Given the description of an element on the screen output the (x, y) to click on. 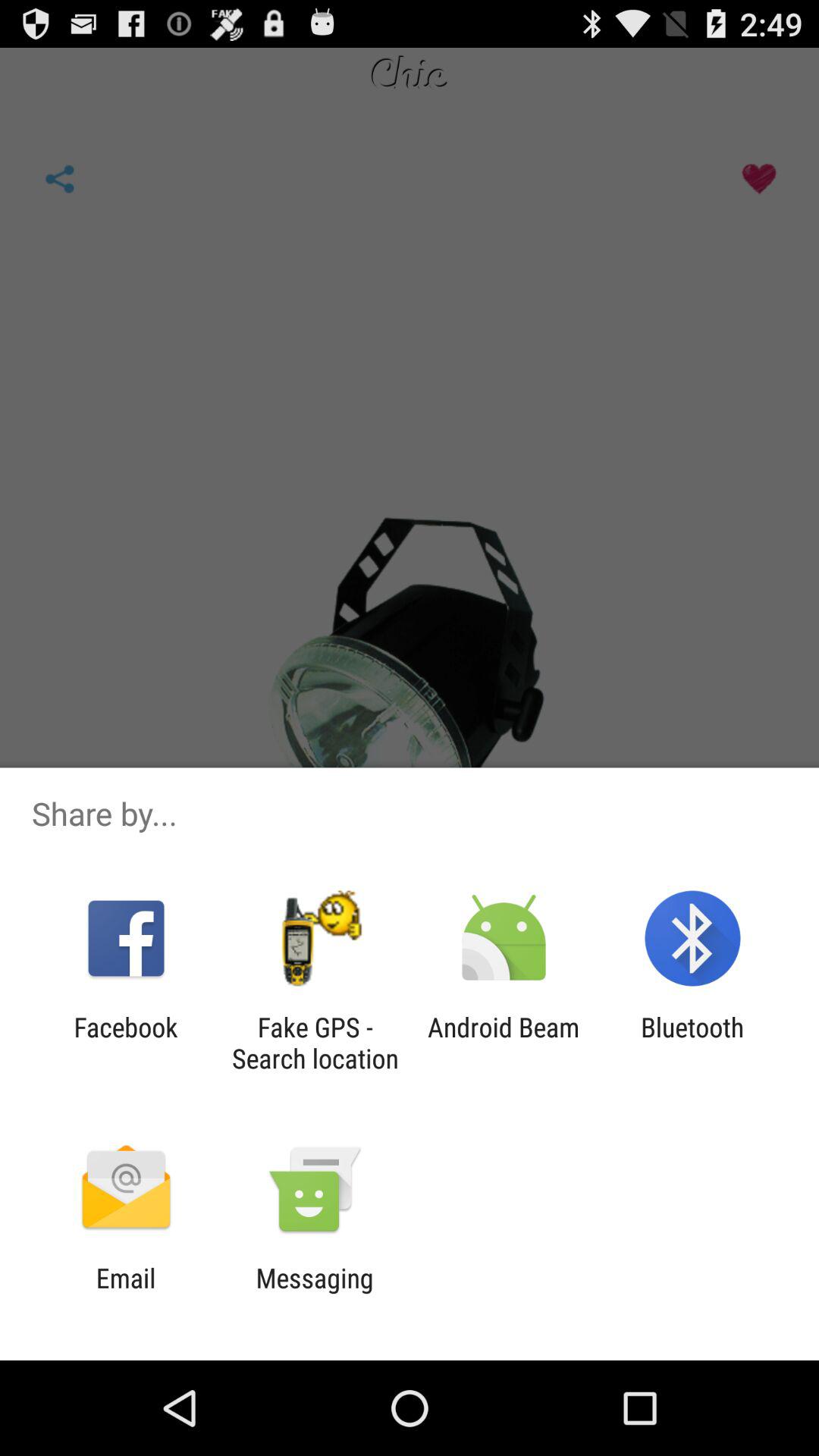
launch app to the right of facebook icon (314, 1042)
